Given the description of an element on the screen output the (x, y) to click on. 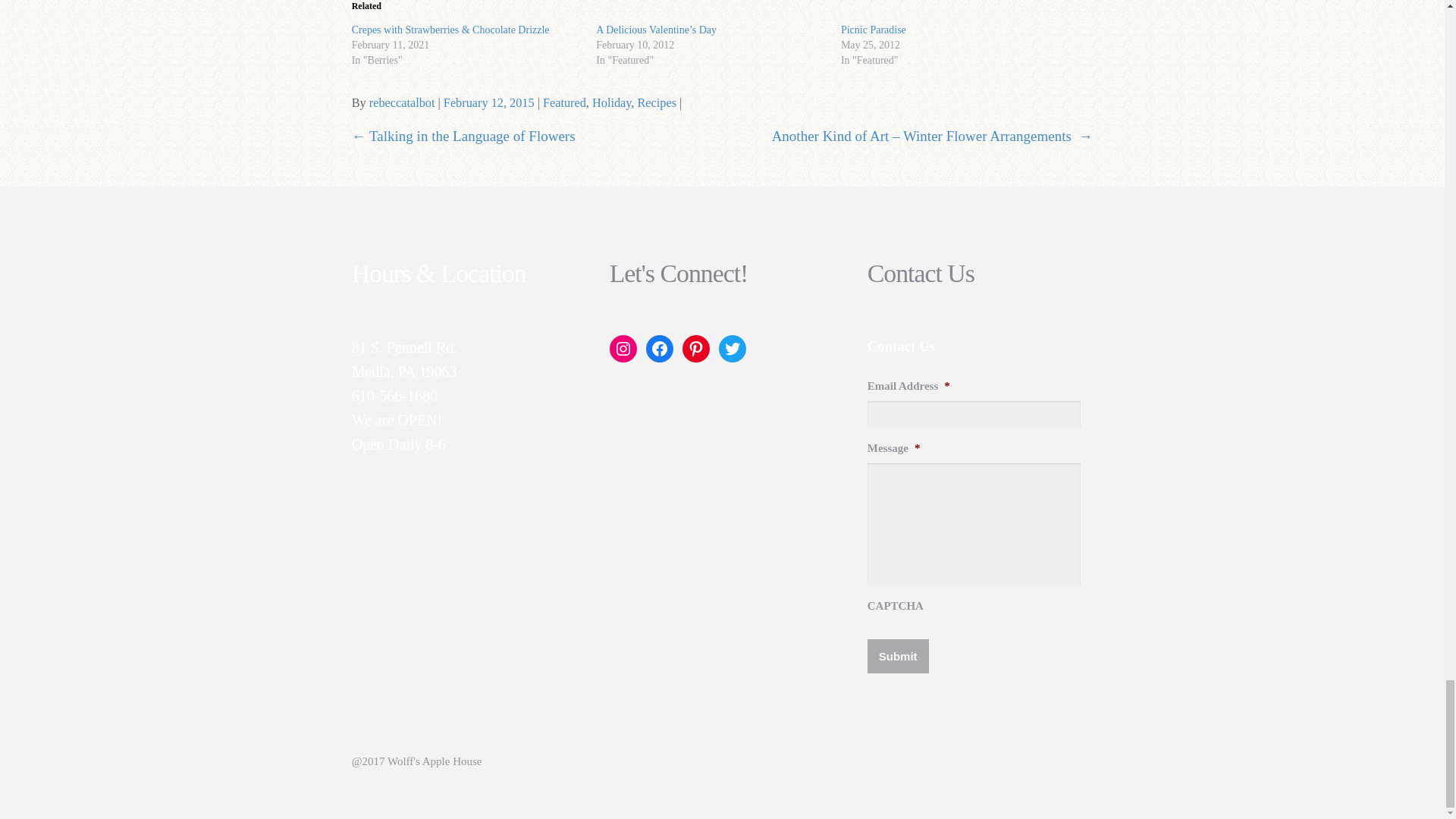
Submit (897, 656)
Picnic Paradise (873, 30)
